Given the description of an element on the screen output the (x, y) to click on. 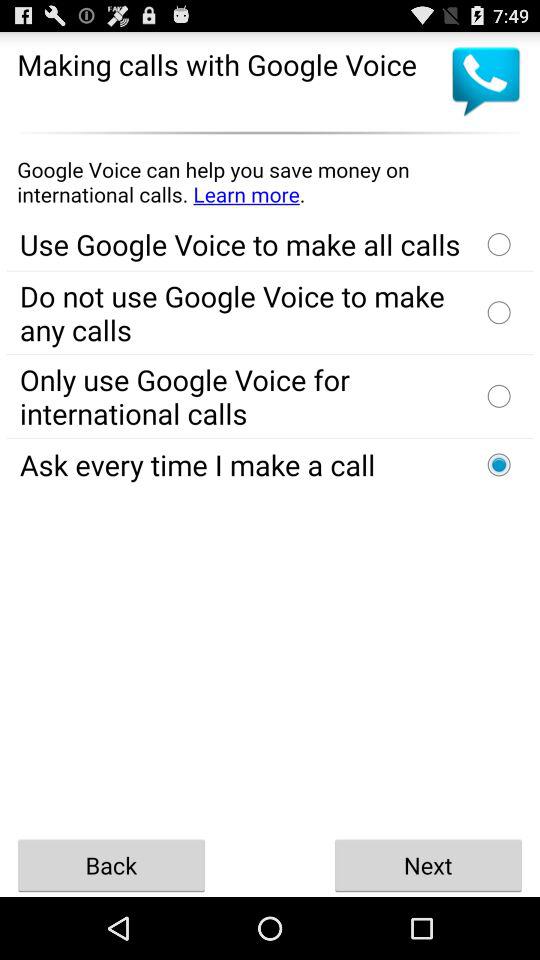
option to select not use the voice call using google voice (499, 312)
